Given the description of an element on the screen output the (x, y) to click on. 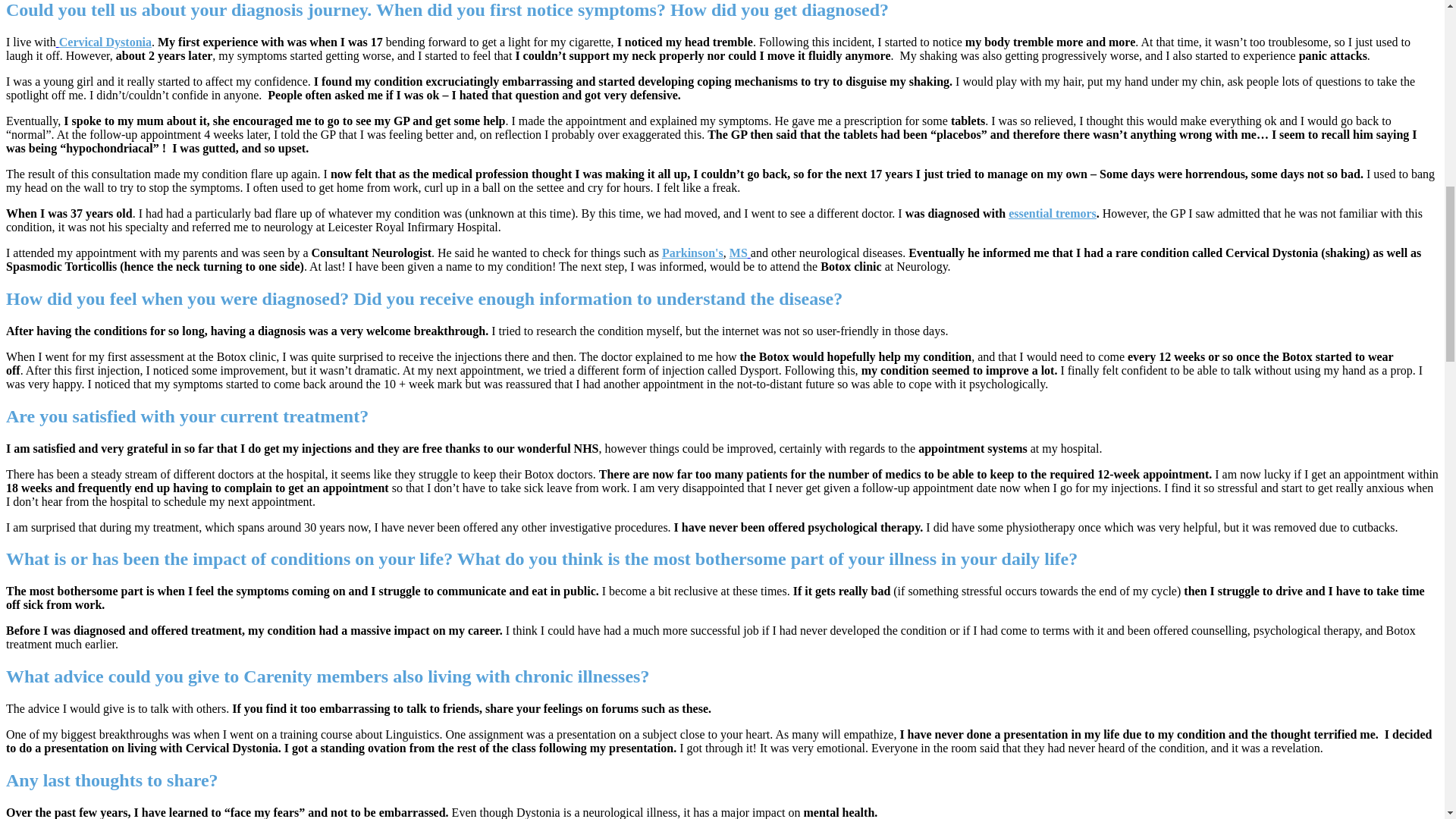
essential tremors (1052, 213)
MS (738, 252)
Cervical Dystonia (105, 42)
Parkinson's (692, 252)
